Given the description of an element on the screen output the (x, y) to click on. 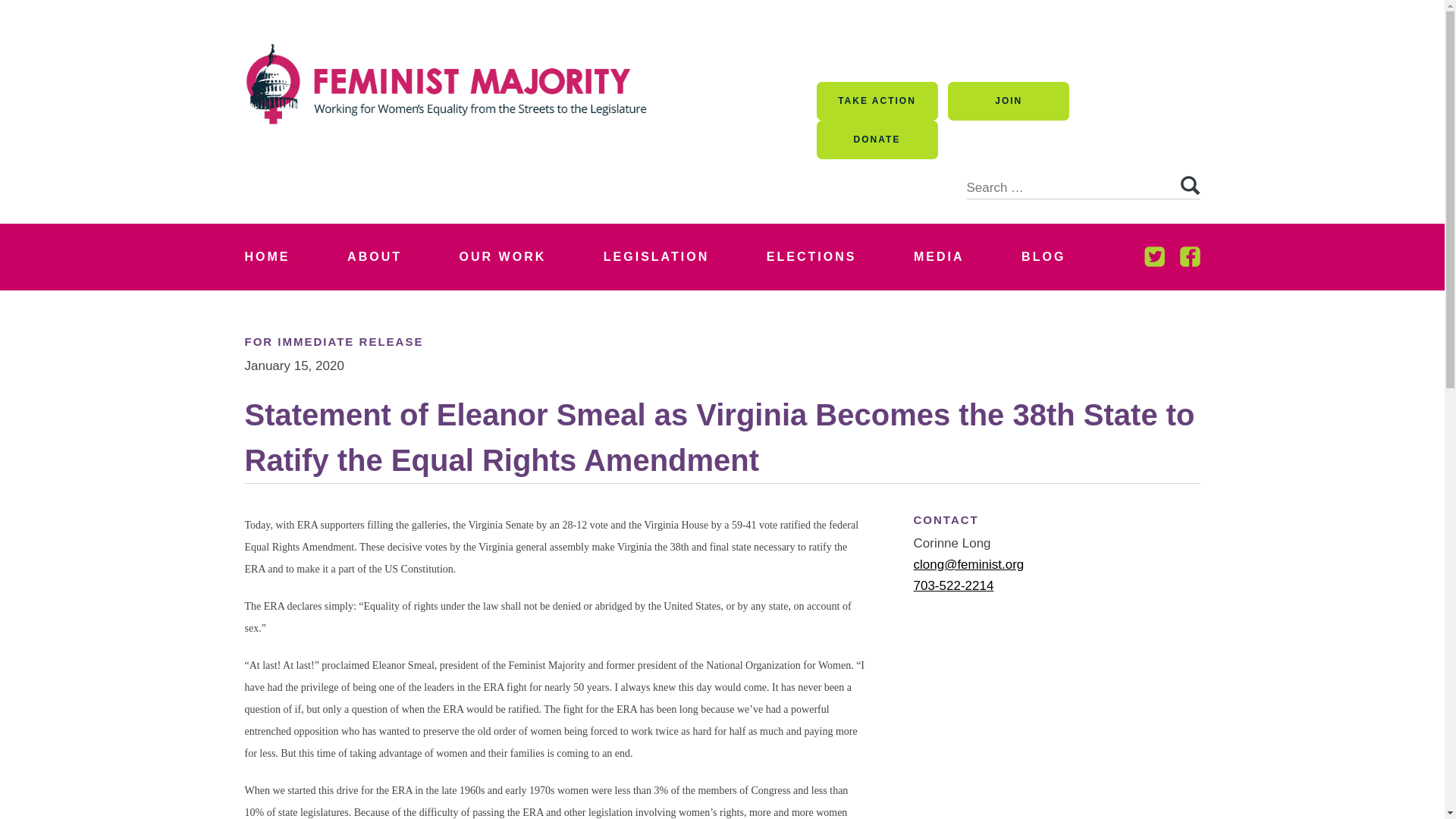
BLOG (1043, 256)
TWITTER (1152, 256)
LEGISLATION (656, 256)
ELECTIONS (811, 256)
JOIN (1007, 100)
DONATE (876, 139)
Search (1189, 185)
Search (1189, 185)
703-522-2214 (952, 585)
Search for: (1082, 178)
